Given the description of an element on the screen output the (x, y) to click on. 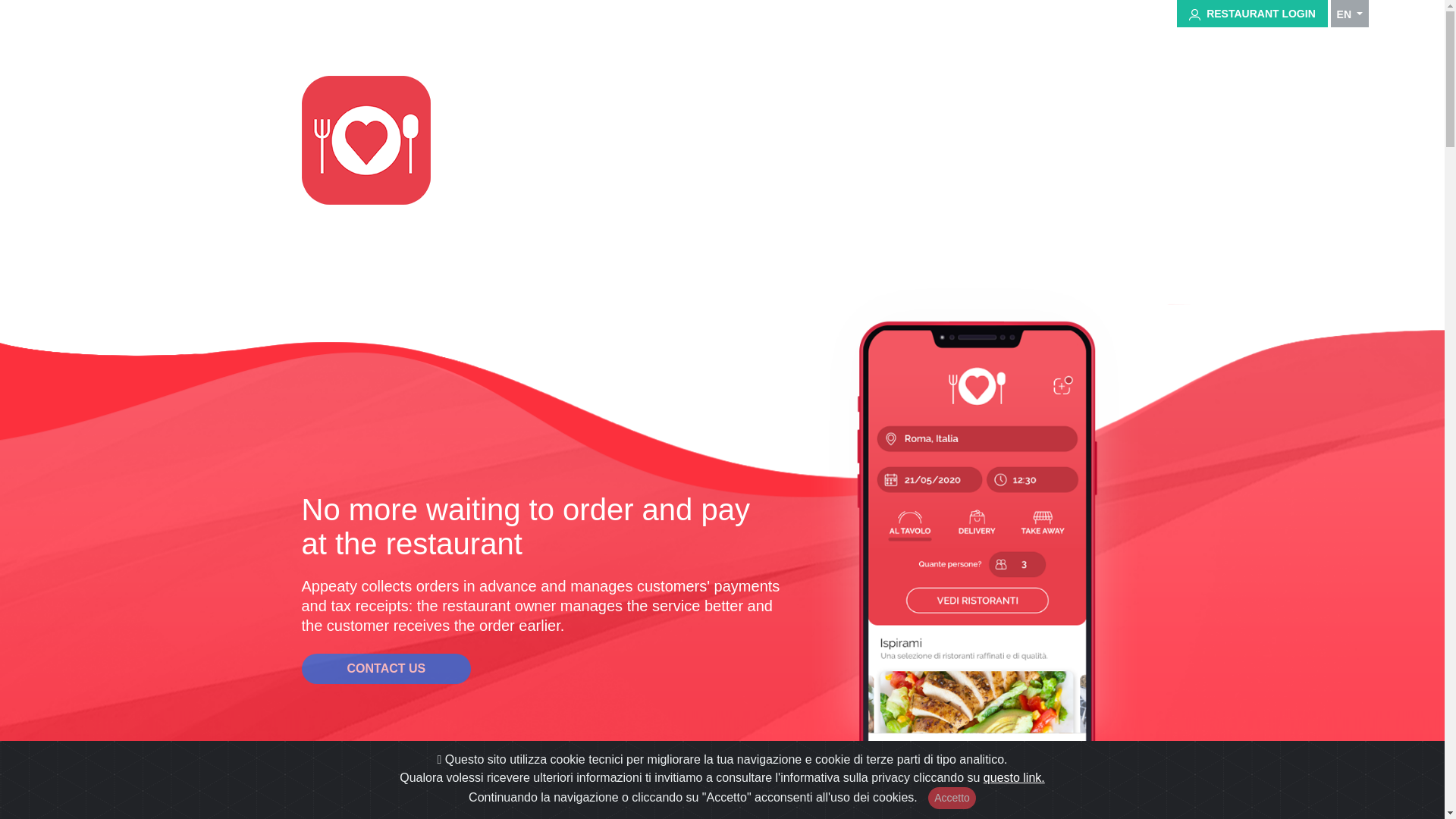
CONTACT US (386, 668)
Accetto (951, 798)
EN (1349, 13)
RESTAURANT LOGIN   (1251, 13)
CONTACT US (386, 658)
questo link. (1014, 777)
